Given the description of an element on the screen output the (x, y) to click on. 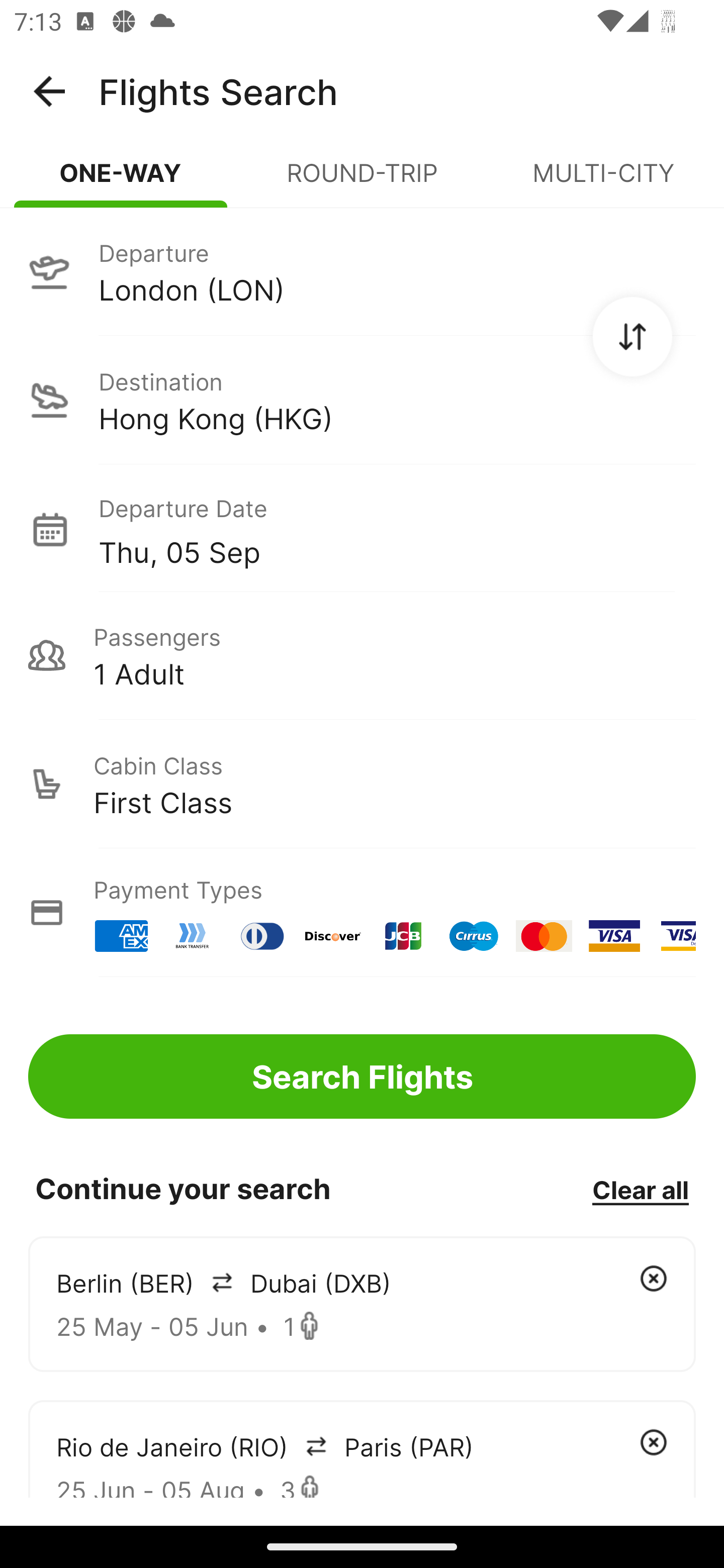
ONE-WAY (120, 180)
ROUND-TRIP (361, 180)
MULTI-CITY (603, 180)
Departure London (LON) (362, 270)
Destination Hong Kong (HKG) (362, 400)
Departure Date Thu, 05 Sep (396, 528)
Passengers 1 Adult (362, 655)
Cabin Class First Class (362, 783)
Payment Types (362, 912)
Search Flights (361, 1075)
Clear all (640, 1189)
